Given the description of an element on the screen output the (x, y) to click on. 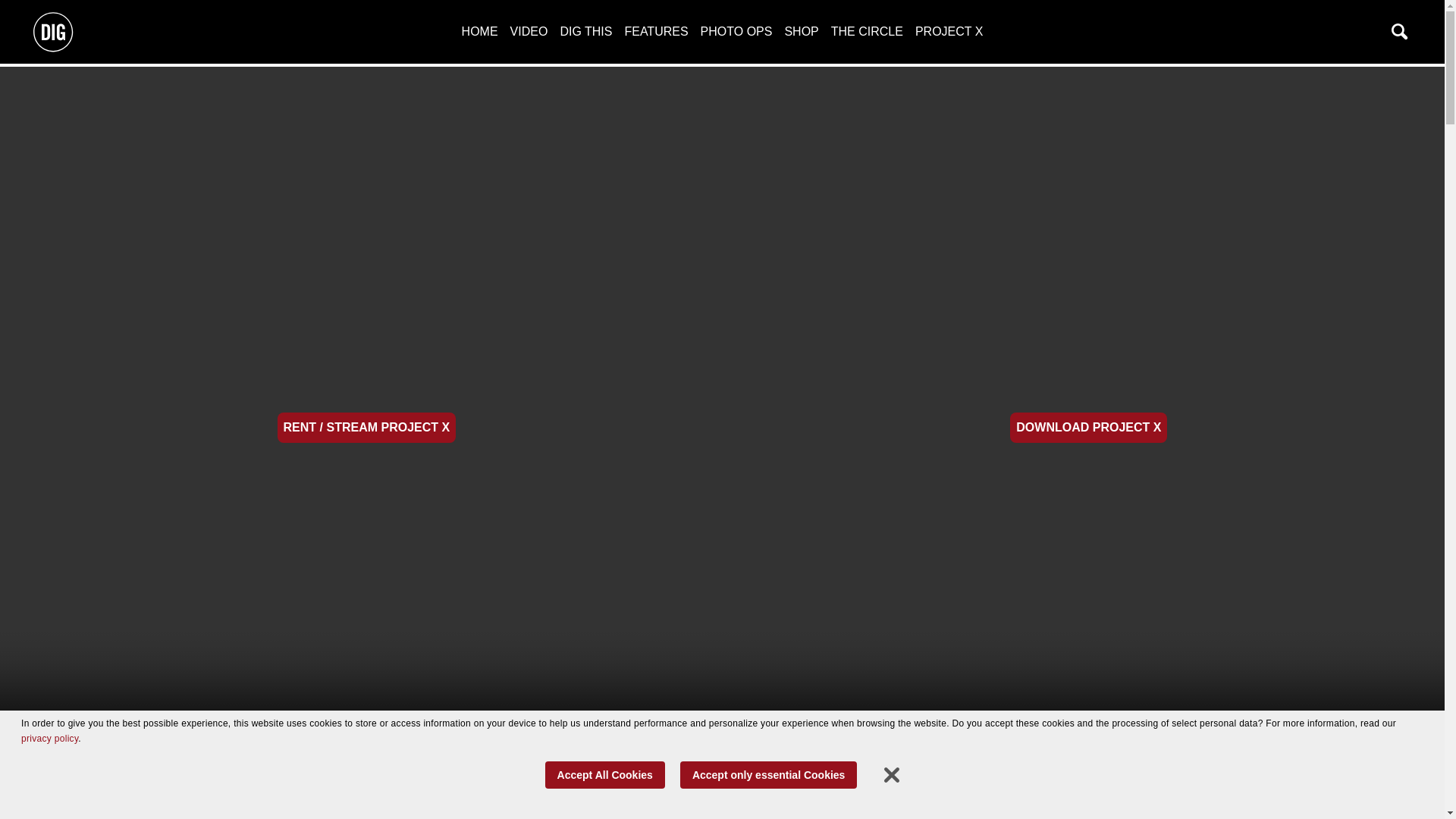
PROJECT X (949, 31)
FEATURES (655, 31)
THE CIRCLE (866, 31)
HOME (479, 31)
VIDEO (528, 31)
DOWNLOAD PROJECT X (1088, 427)
SHOP (800, 31)
DIG THIS (585, 31)
PHOTO OPS (736, 31)
